Given the description of an element on the screen output the (x, y) to click on. 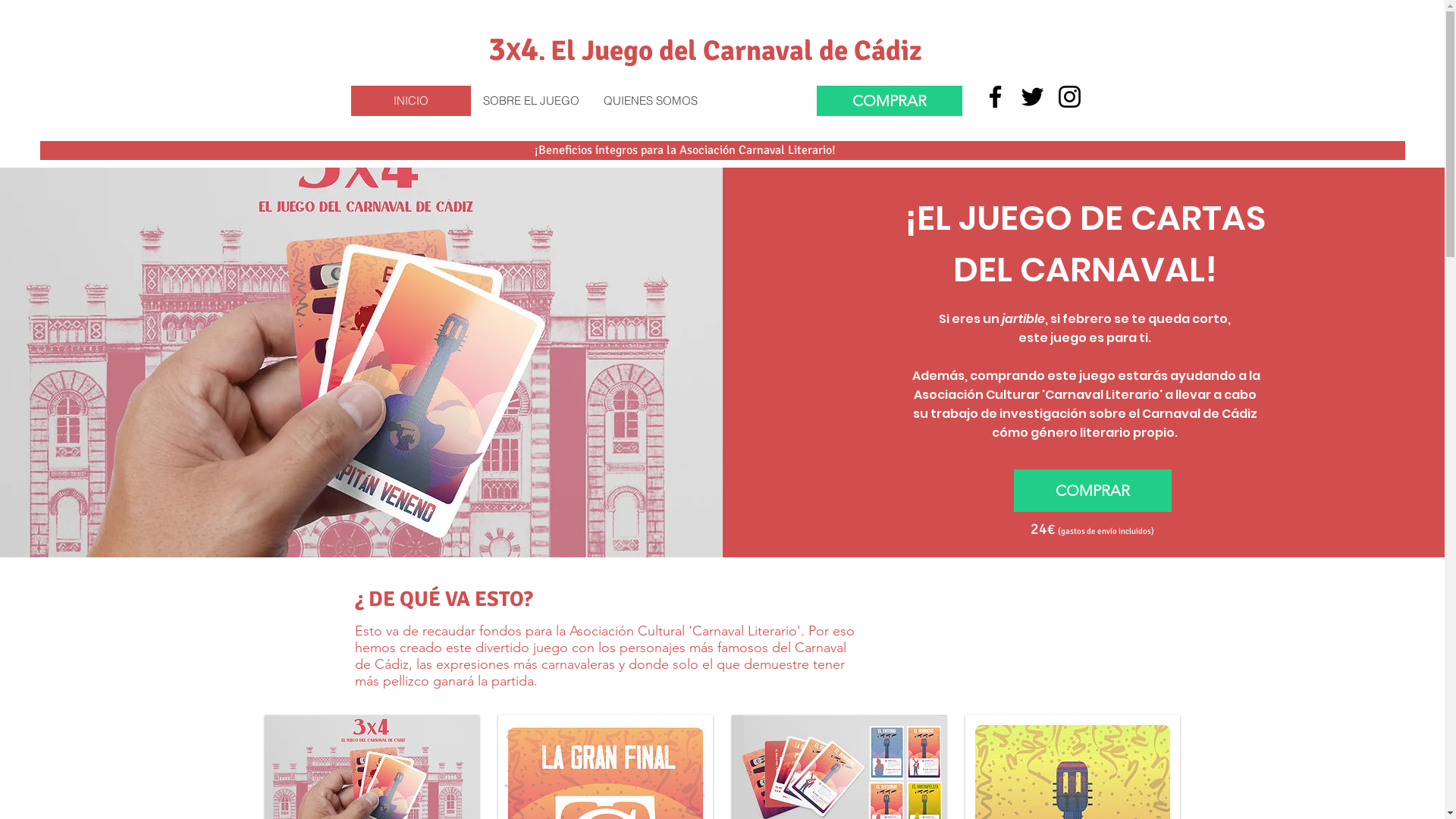
SOBRE EL JUEGO Element type: text (529, 100)
QUIENES SOMOS Element type: text (649, 100)
COMPRAR Element type: text (1092, 490)
3 Element type: text (496, 49)
4 Element type: text (528, 49)
X Element type: text (512, 51)
. Element type: text (544, 51)
INICIO Element type: text (410, 100)
COMPRAR Element type: text (888, 100)
